Given the description of an element on the screen output the (x, y) to click on. 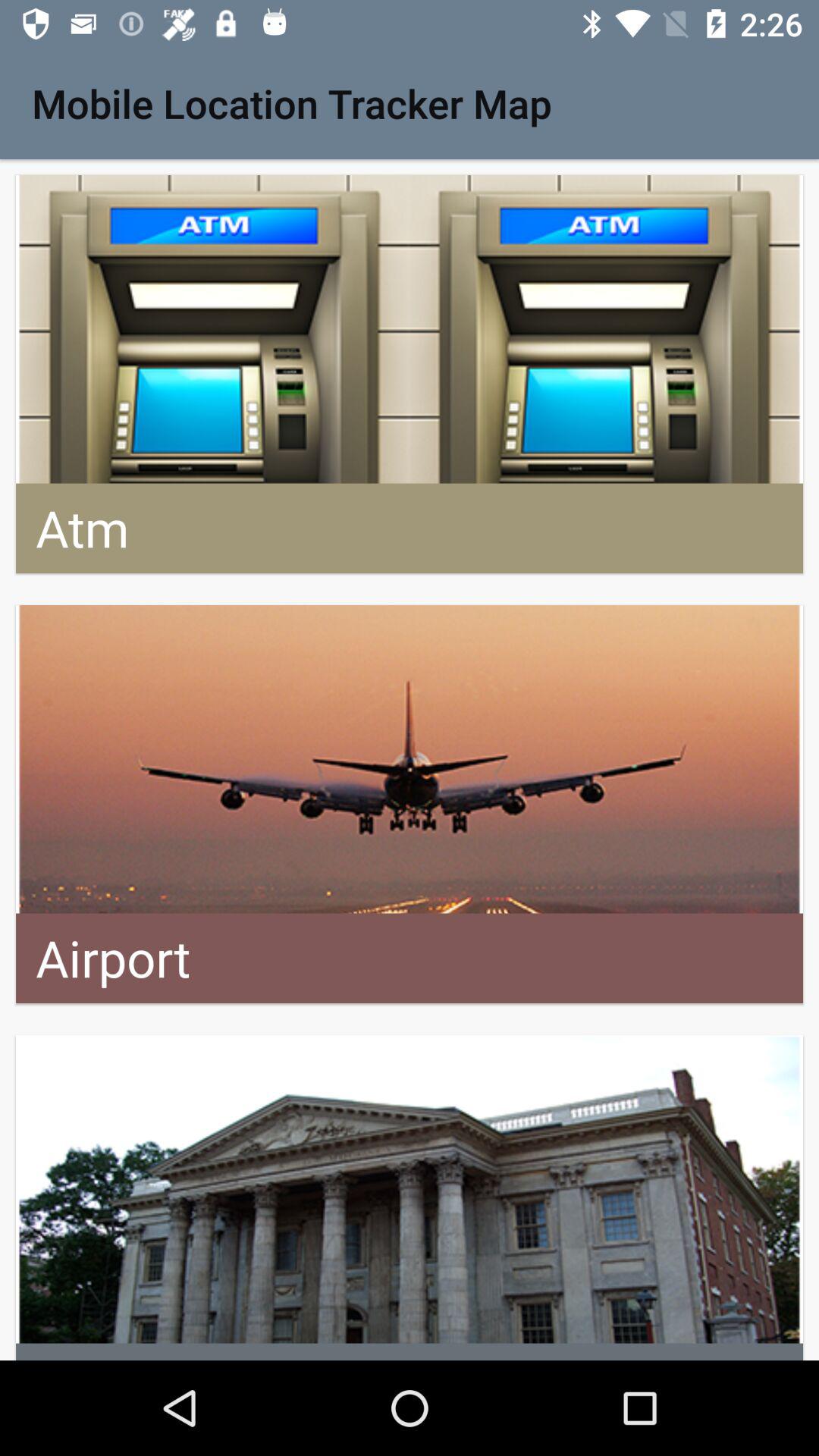
select building (409, 1197)
